Given the description of an element on the screen output the (x, y) to click on. 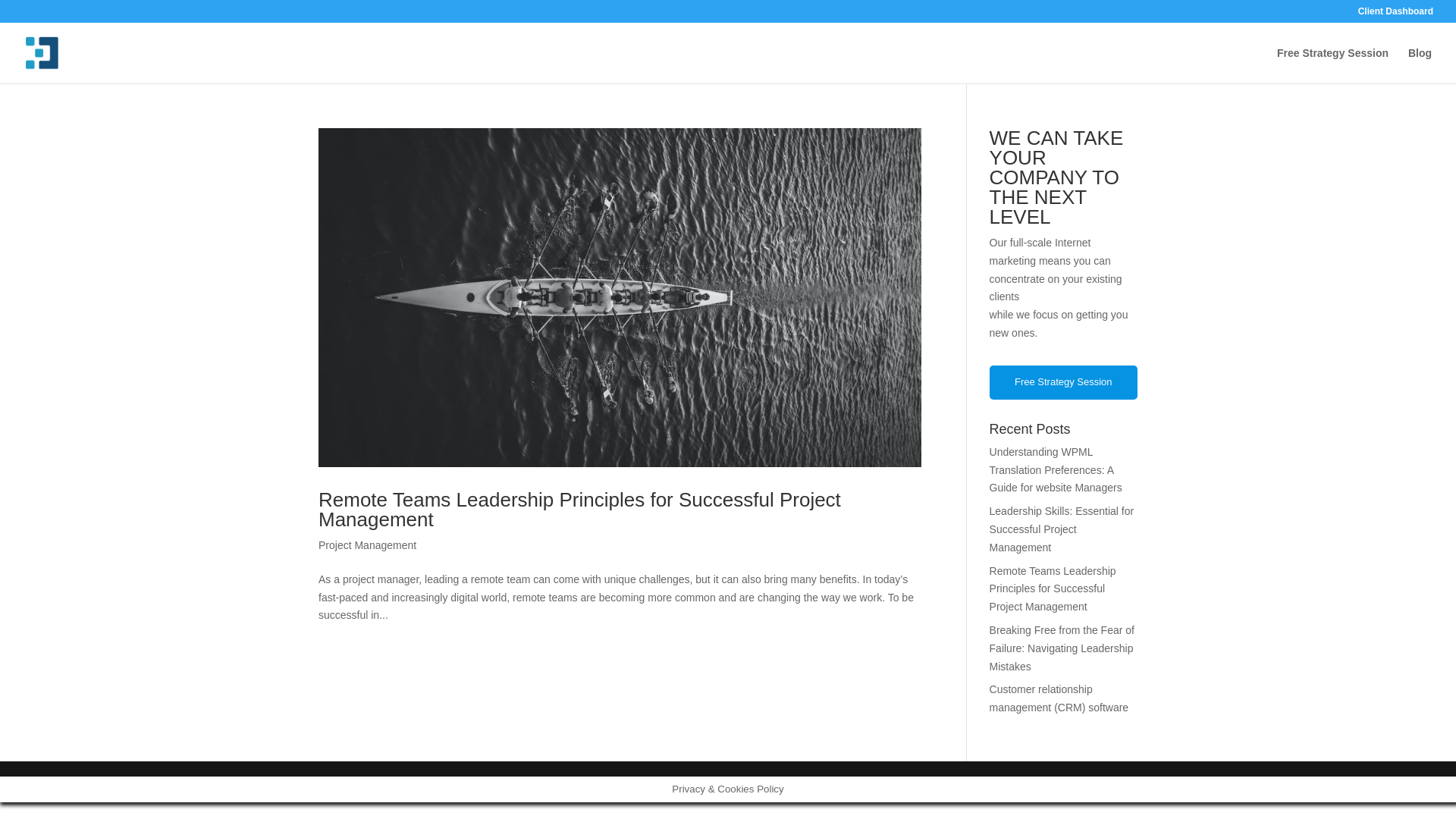
Project Management (367, 544)
Free Strategy Session (1332, 65)
Free Strategy Session (1063, 382)
Client Dashboard (1395, 14)
